Given the description of an element on the screen output the (x, y) to click on. 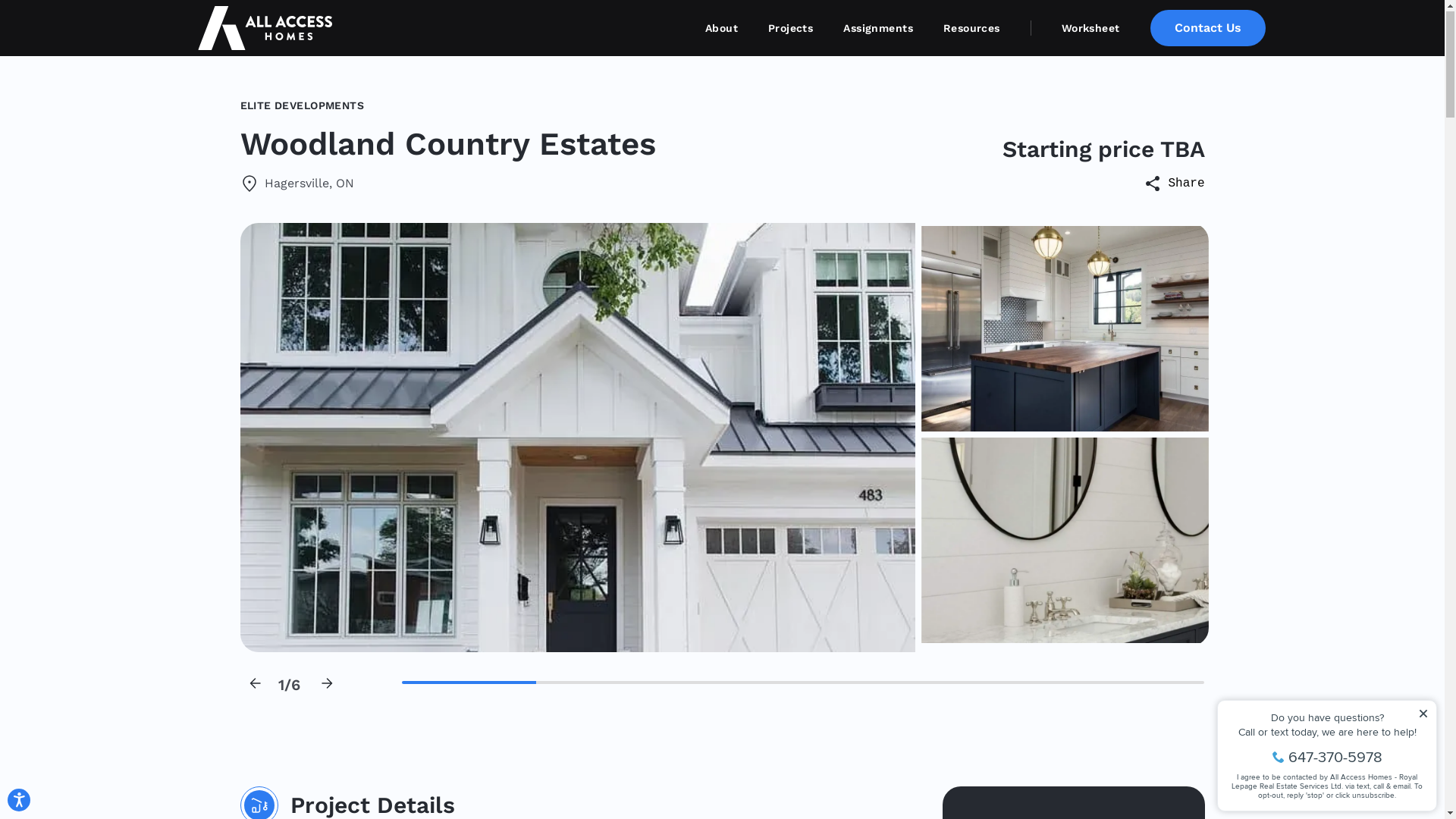
Resources Element type: text (971, 28)
Worksheet Element type: text (1075, 28)
3 Element type: text (736, 682)
4 Element type: text (869, 682)
Contact Us Element type: text (1206, 28)
2 Element type: hover (1064, 329)
Share Element type: text (1173, 184)
1 Element type: hover (576, 437)
3 Element type: hover (1064, 540)
Projects Element type: text (790, 28)
5 Element type: text (1003, 682)
Assignments Element type: text (878, 28)
About Element type: text (721, 28)
2 Element type: text (602, 682)
6 Element type: text (1137, 682)
1 Element type: text (468, 682)
